Given the description of an element on the screen output the (x, y) to click on. 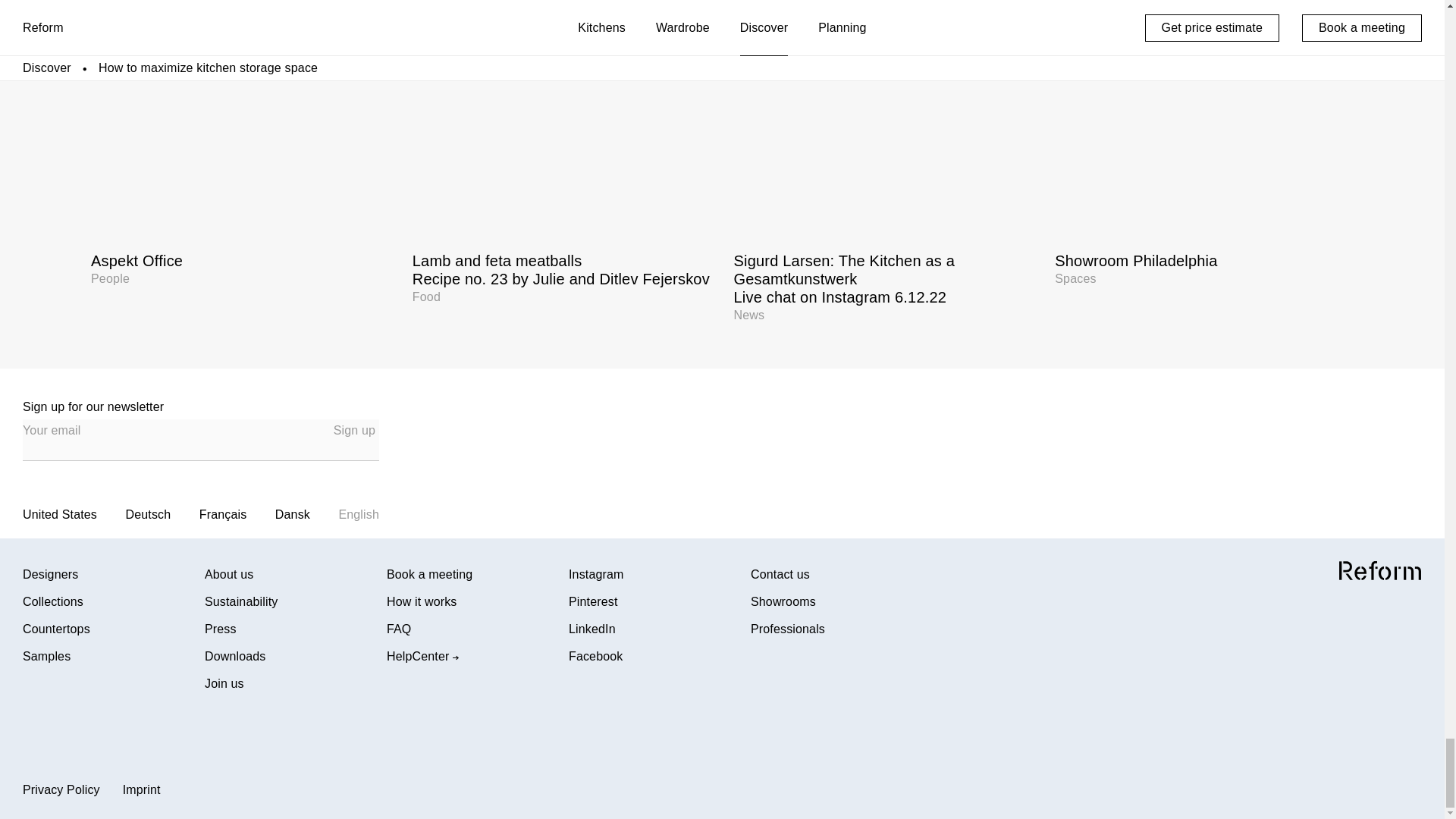
Collections (114, 601)
REFORM (1380, 571)
English (240, 161)
Dansk (358, 514)
Deutsch (1204, 161)
Sign up (292, 514)
Countertops (148, 514)
United States (354, 430)
Designers (114, 628)
